Given the description of an element on the screen output the (x, y) to click on. 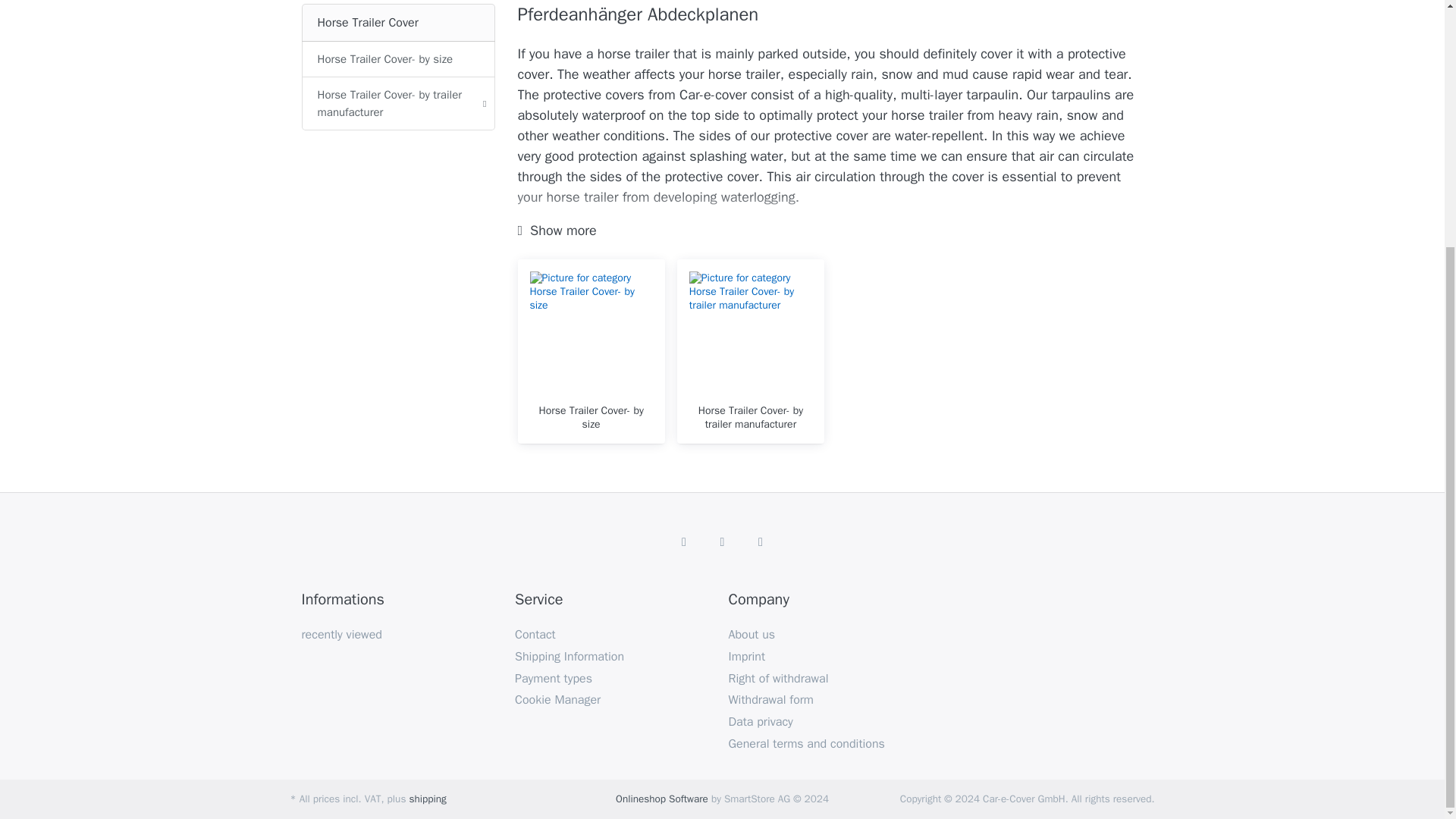
Show products in category Horse Trailer Cover- by size (590, 417)
Facebook (684, 541)
Show products in category Horse Trailer Cover- by size (590, 332)
Instagram (722, 541)
TikTok (760, 541)
